Given the description of an element on the screen output the (x, y) to click on. 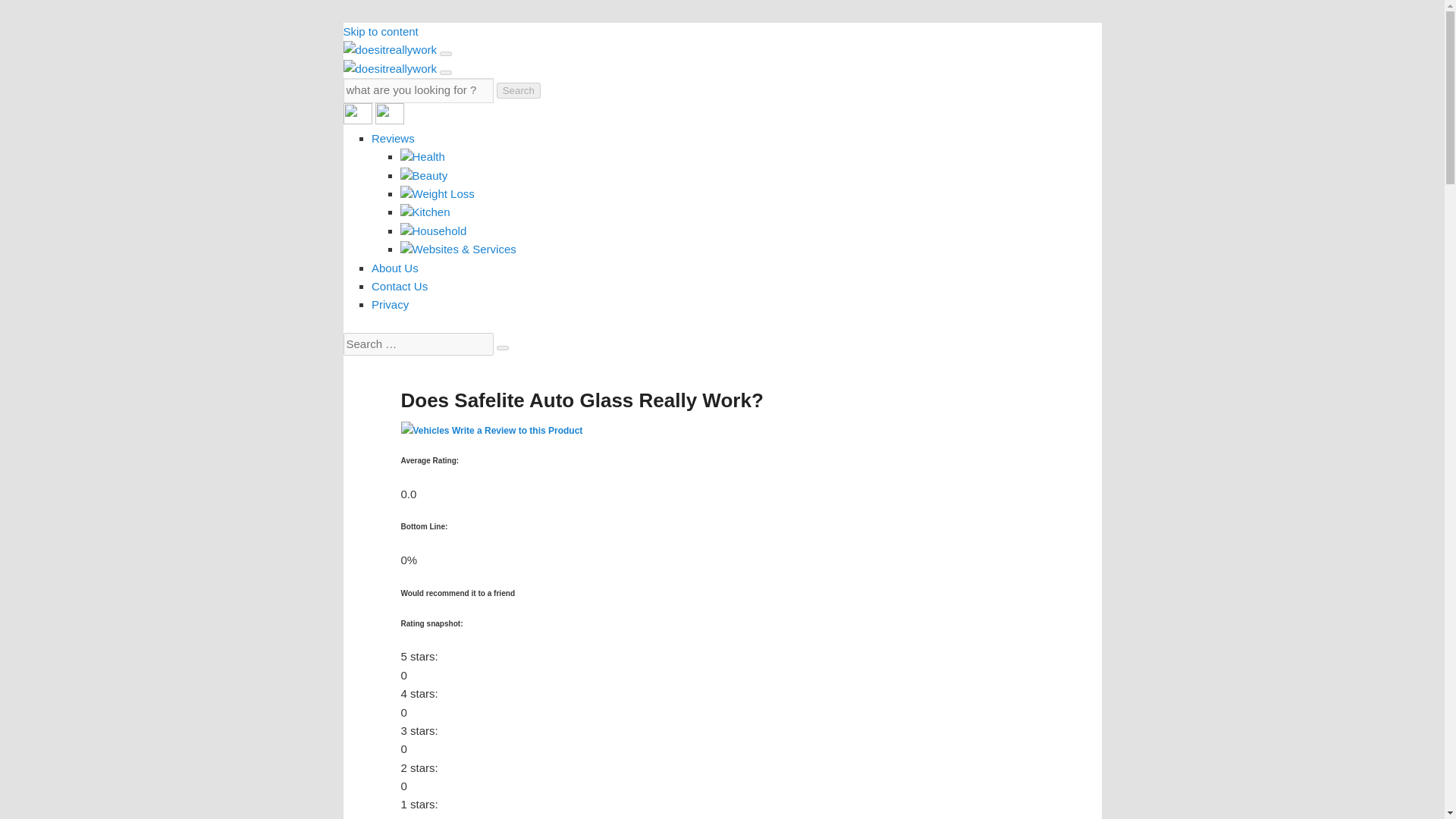
Beauty (424, 174)
Household (433, 230)
Health (422, 155)
Household (433, 230)
Search (518, 90)
Privacy (390, 304)
Reviews (392, 137)
Skip to content (379, 31)
Vehicles (430, 430)
Privacy (390, 304)
